Given the description of an element on the screen output the (x, y) to click on. 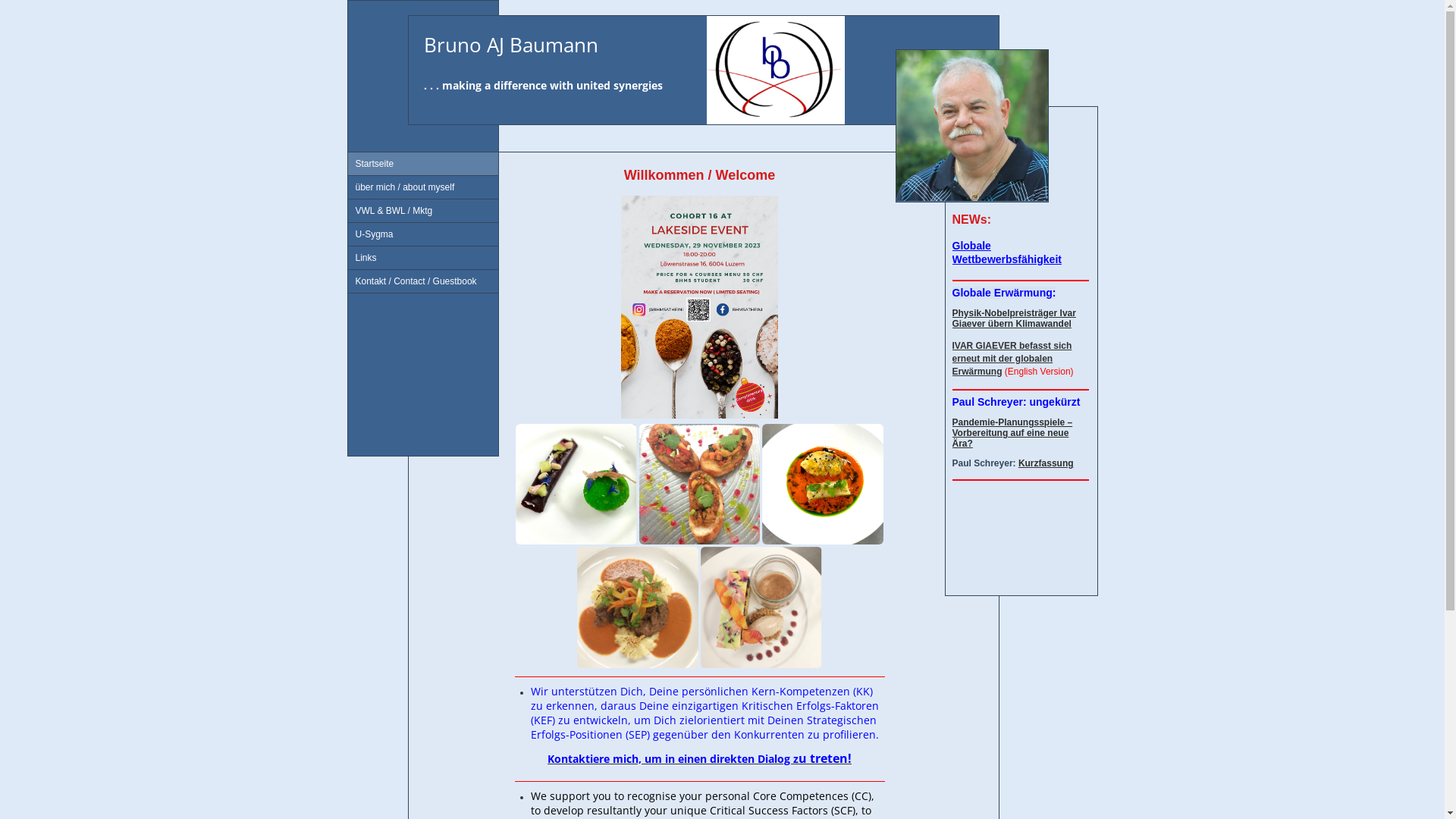
U-Sygma Element type: text (422, 234)
Links Element type: text (422, 257)
Kurzfassung Element type: text (1045, 463)
VWL & BWL / Mktg Element type: text (422, 210)
Kontakt / Contact / Guestbook Element type: text (422, 281)
Kontaktiere mich, um in einen direkten Dialog zu treten! Element type: text (699, 759)
Startseite Element type: text (422, 163)
